Given the description of an element on the screen output the (x, y) to click on. 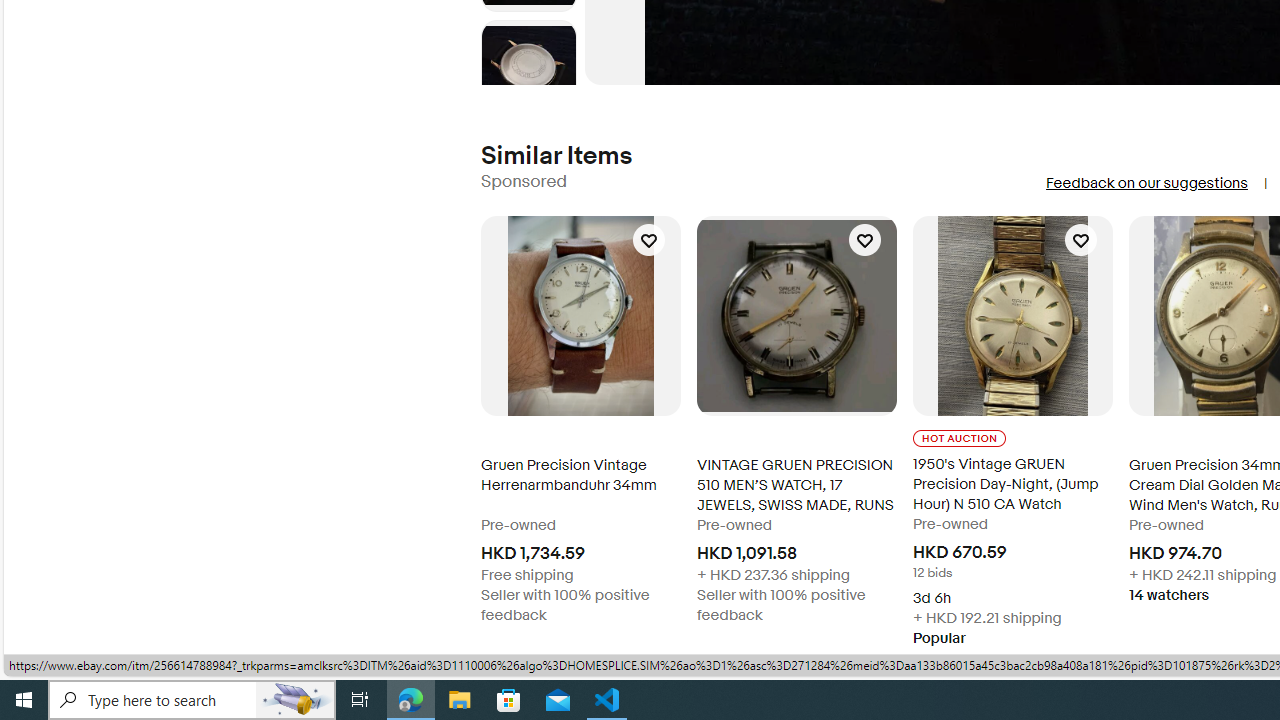
Next image - Item images thumbnails (528, 80)
Feedback on our suggestions (1146, 183)
Picture 6 of 8 (528, 67)
Picture 6 of 8 (528, 67)
